Given the description of an element on the screen output the (x, y) to click on. 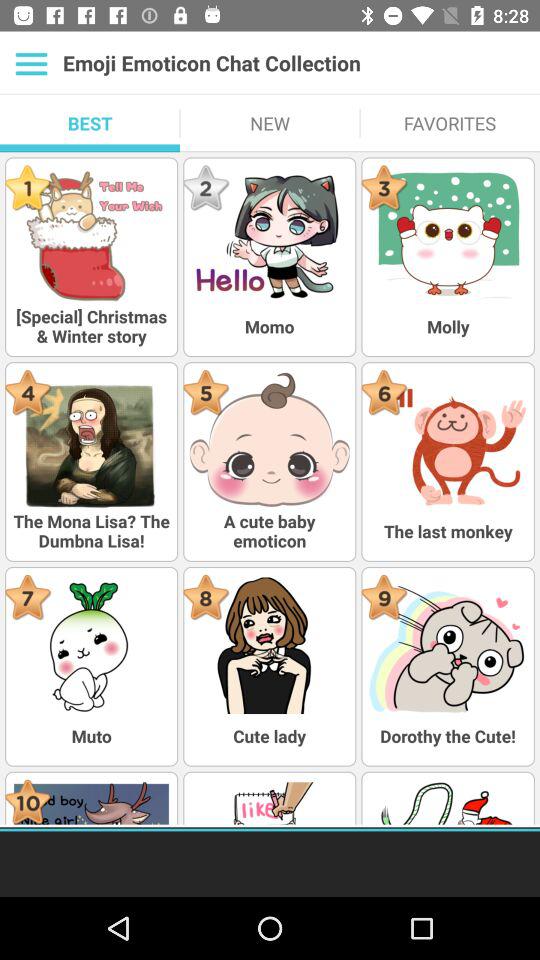
category button to see more items (31, 63)
